Given the description of an element on the screen output the (x, y) to click on. 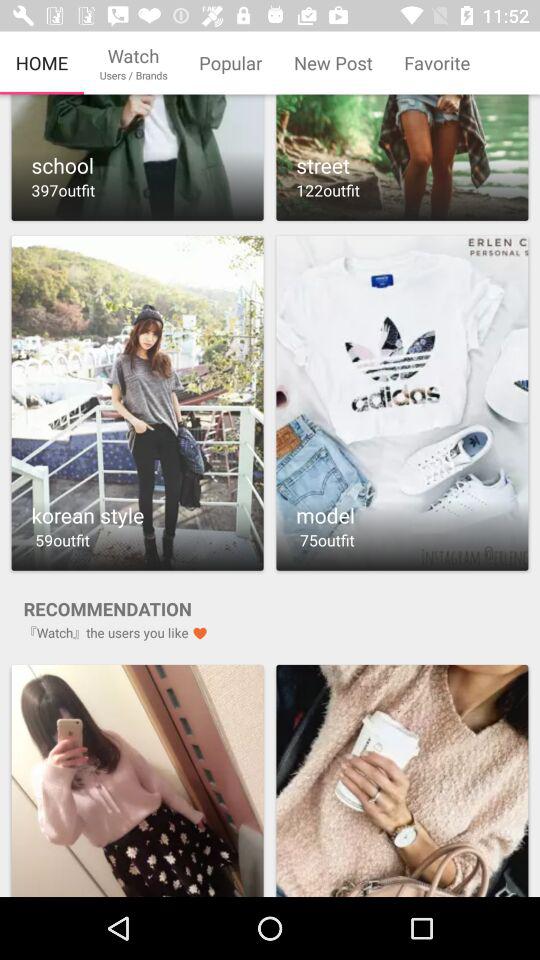
view outfit (402, 402)
